Given the description of an element on the screen output the (x, y) to click on. 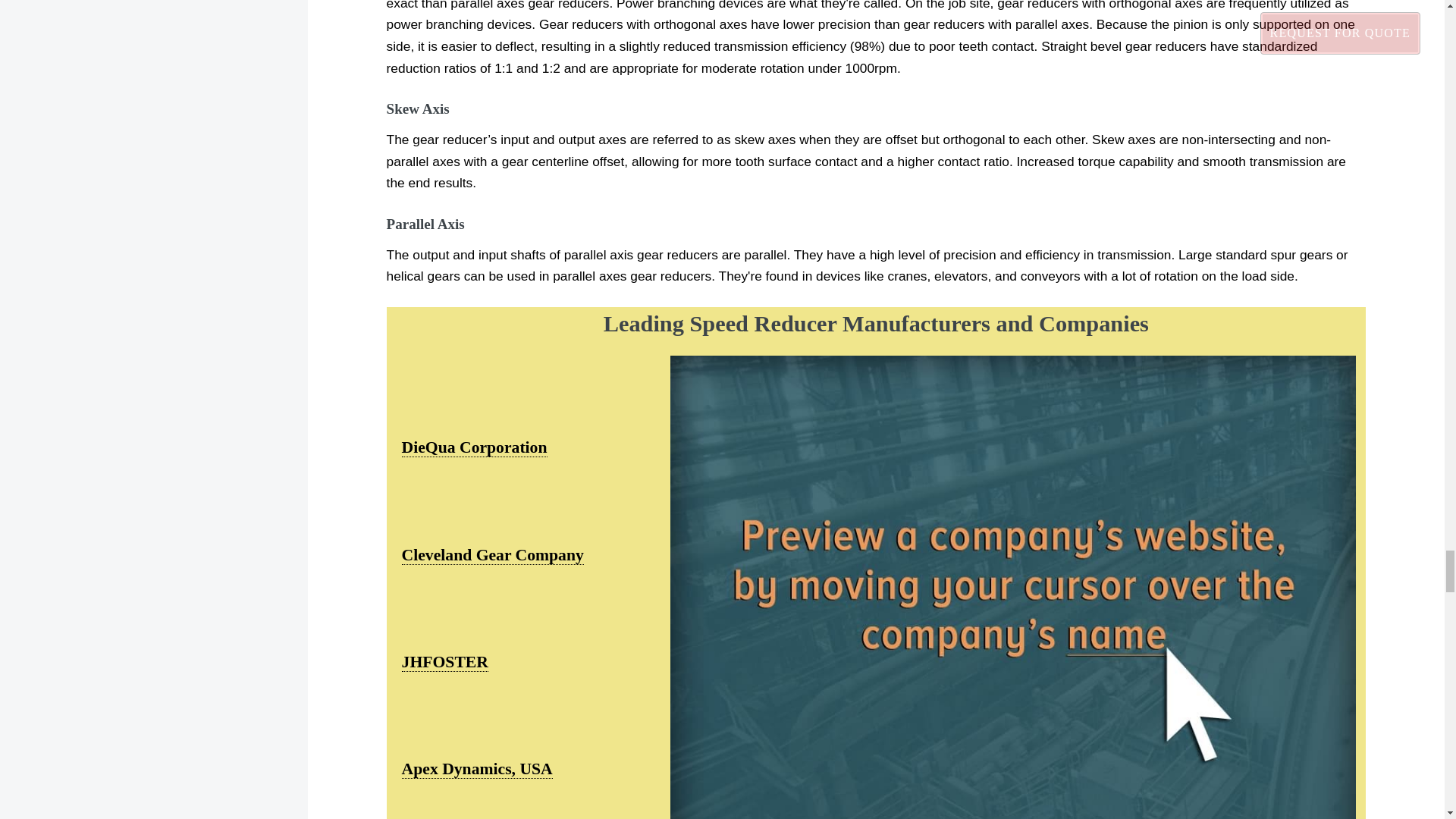
Cleveland Gear Company (492, 555)
Apex Dynamics, USA (477, 769)
DieQua Corporation (474, 447)
JHFOSTER (444, 661)
